Given the description of an element on the screen output the (x, y) to click on. 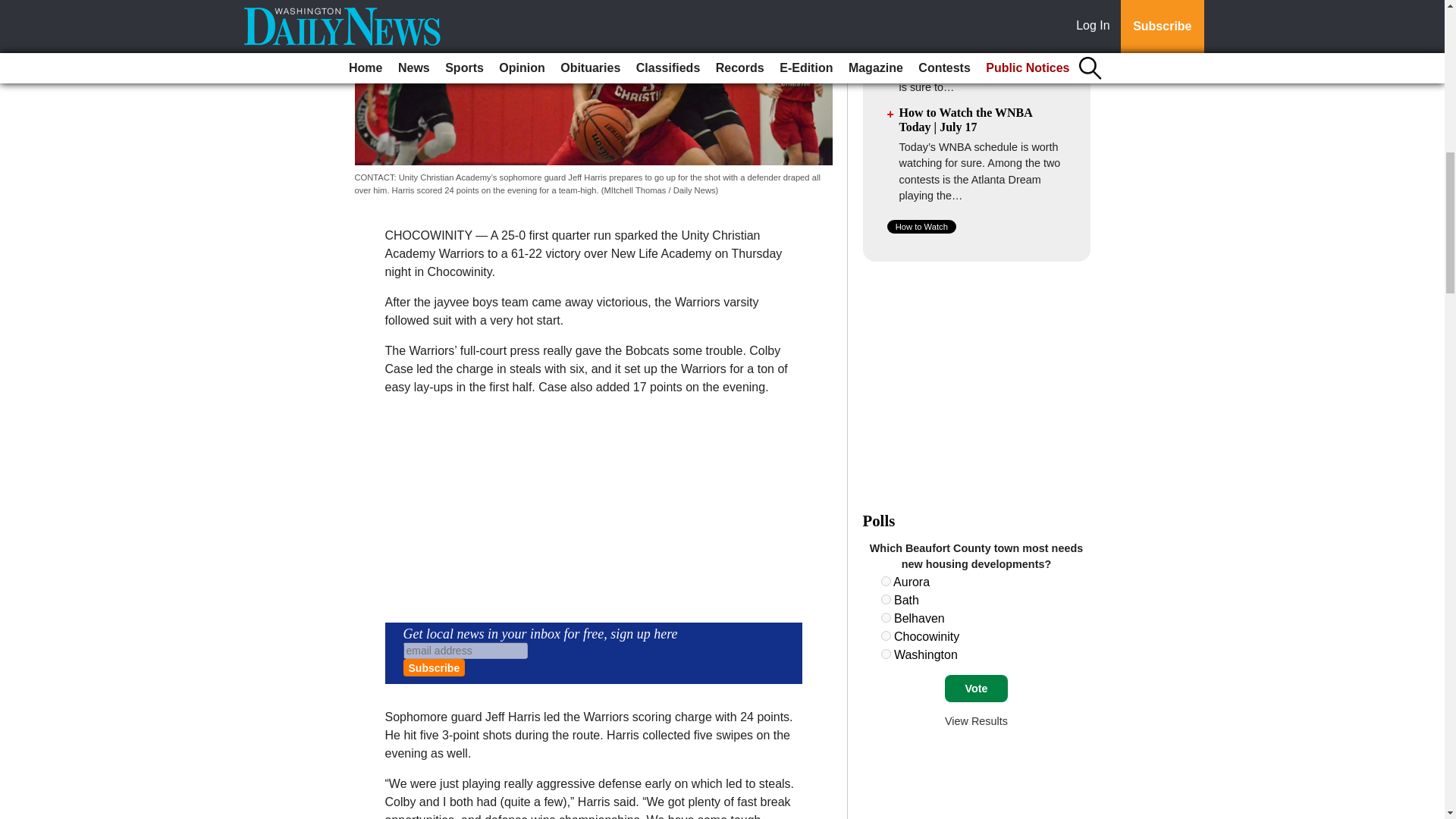
4371 (885, 617)
4372 (885, 635)
   Vote    (975, 687)
How to Watch (921, 226)
View Results (975, 720)
Subscribe (434, 667)
4370 (885, 599)
Subscribe (434, 667)
View Results Of This Poll (975, 720)
4369 (885, 581)
4373 (885, 654)
